Given the description of an element on the screen output the (x, y) to click on. 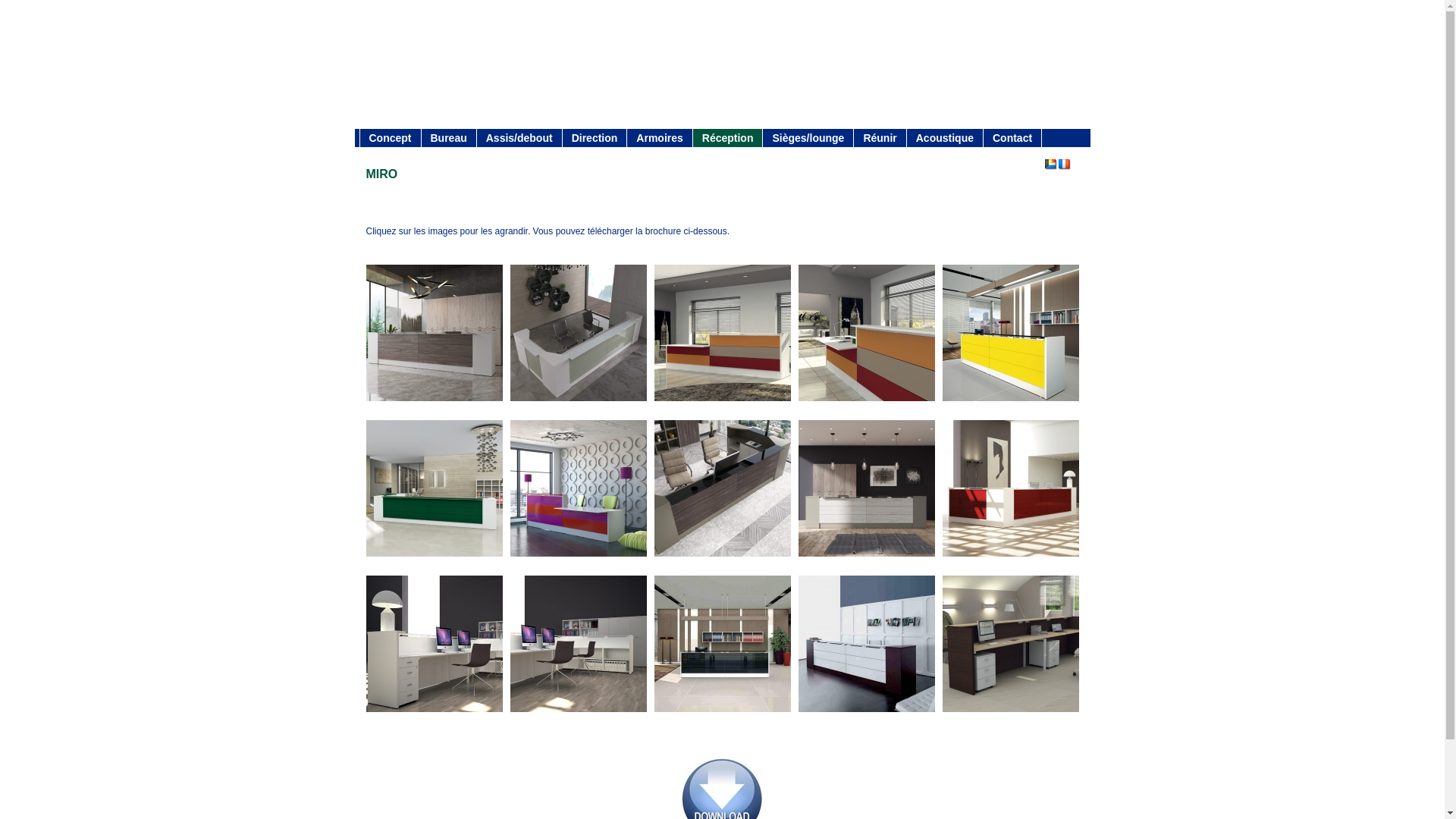
Contact Element type: text (1011, 137)
Armoires Element type: text (658, 137)
Concept Element type: text (389, 137)
Acoustique Element type: text (944, 137)
Nederlands Element type: hover (1050, 164)
Bureau Element type: text (447, 137)
Direction Element type: text (594, 137)
Assis/debout Element type: text (518, 137)
